Given the description of an element on the screen output the (x, y) to click on. 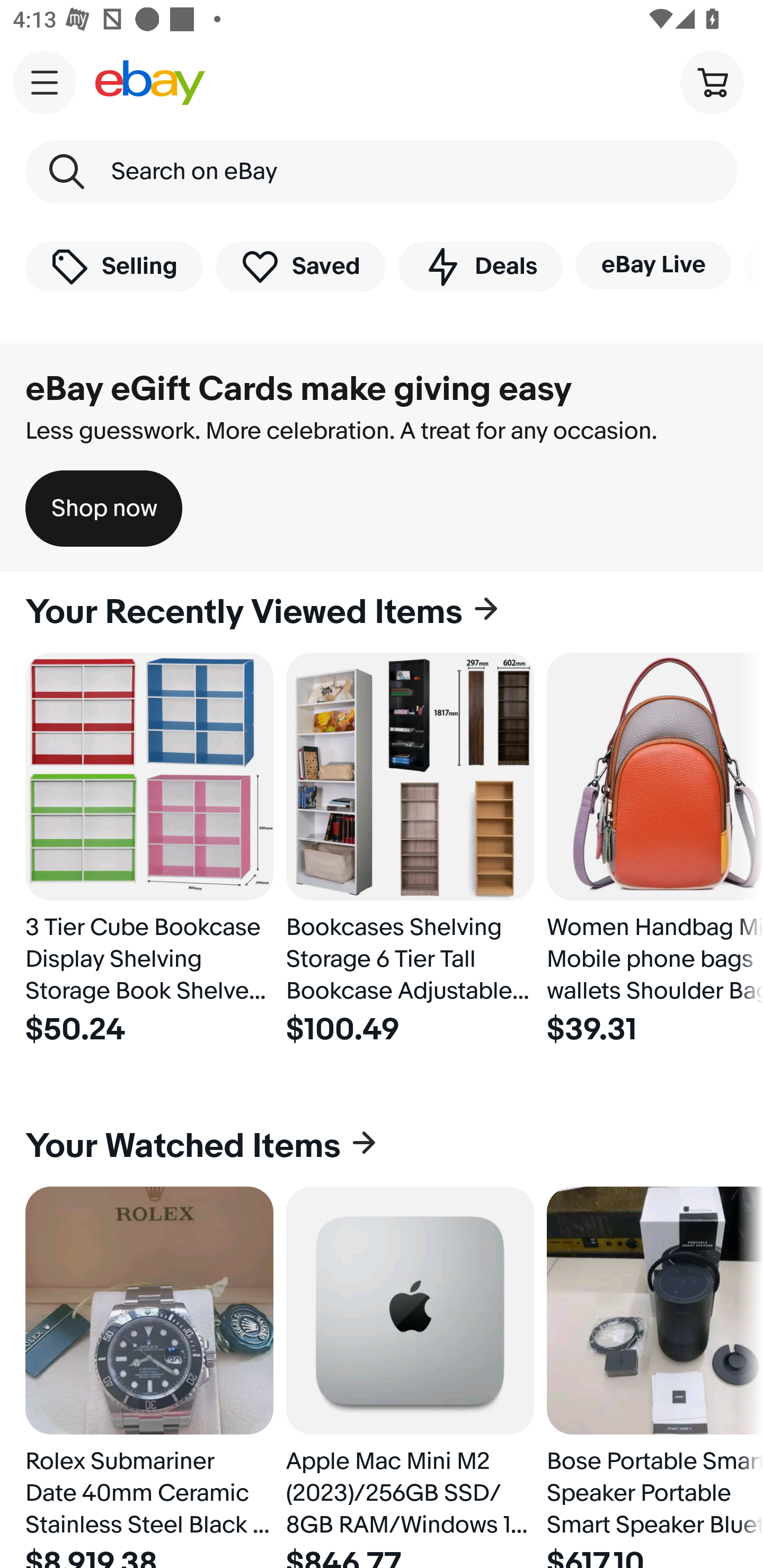
Main navigation, open (44, 82)
Cart button shopping cart (711, 81)
Search on eBay Search Keyword Search on eBay (381, 171)
Selling (113, 266)
Saved (300, 266)
Deals (480, 266)
eBay Live (652, 264)
eBay eGift Cards make giving easy (298, 389)
Shop now (103, 508)
Your Recently Viewed Items   (381, 612)
Your Watched Items   (381, 1145)
